Given the description of an element on the screen output the (x, y) to click on. 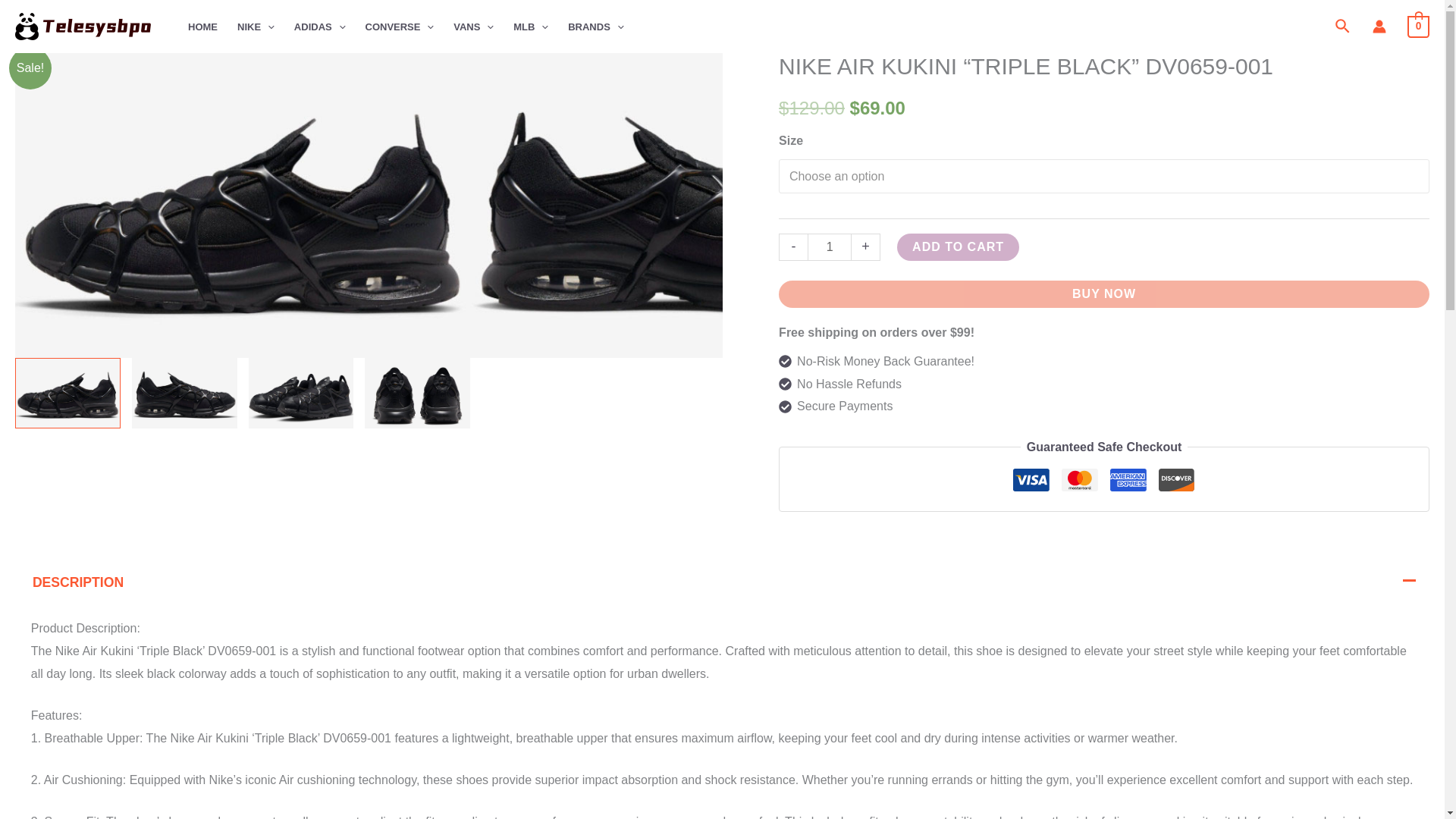
NIKE (255, 26)
ADIDAS (319, 26)
HOME (202, 26)
1 (829, 246)
